Given the description of an element on the screen output the (x, y) to click on. 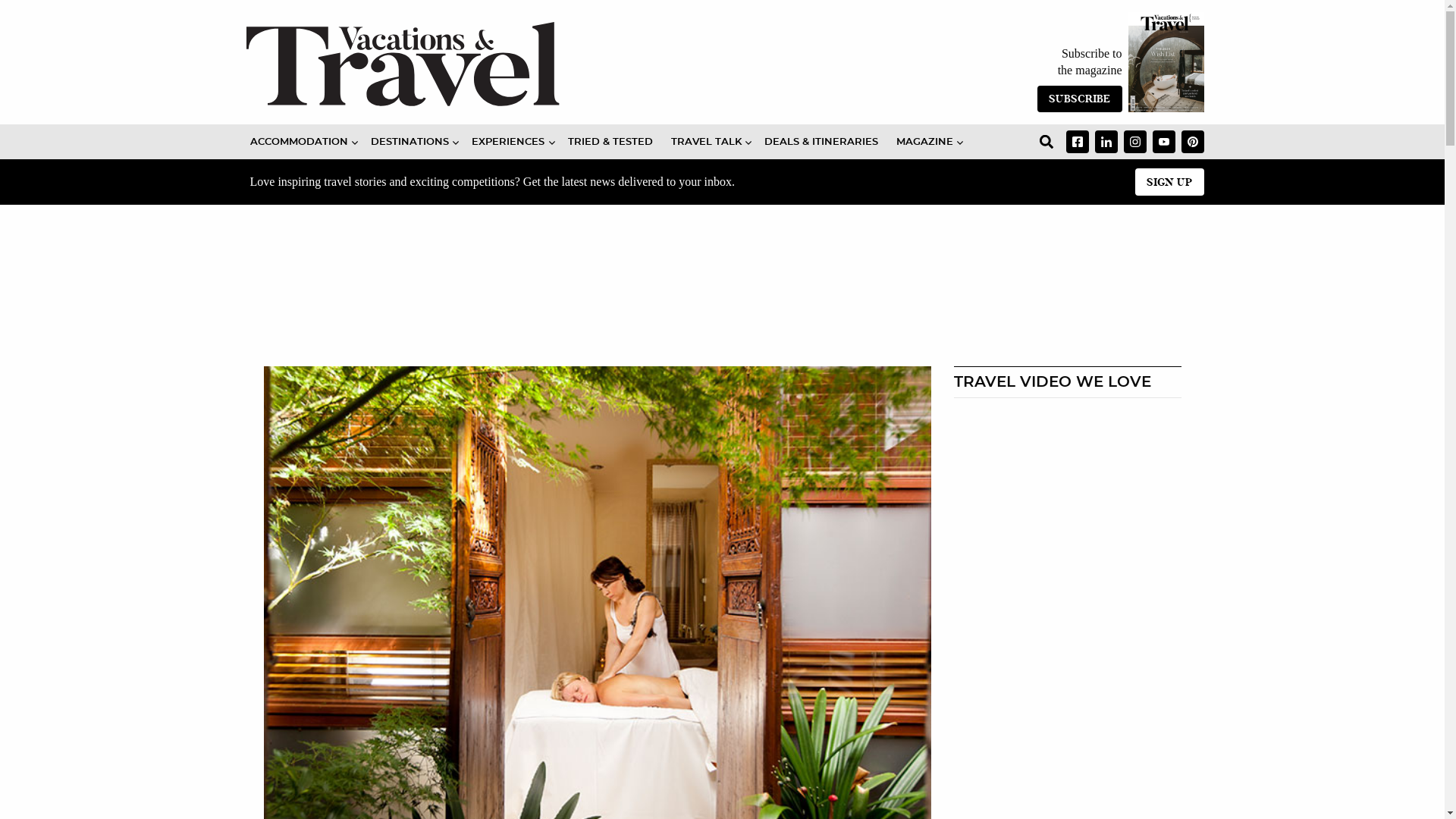
Sign Up for our Newsletter (1169, 181)
Coastal Norway - World Nomads (1066, 473)
Type and press Enter to search. (1045, 141)
Advertisement (547, 299)
